Given the description of an element on the screen output the (x, y) to click on. 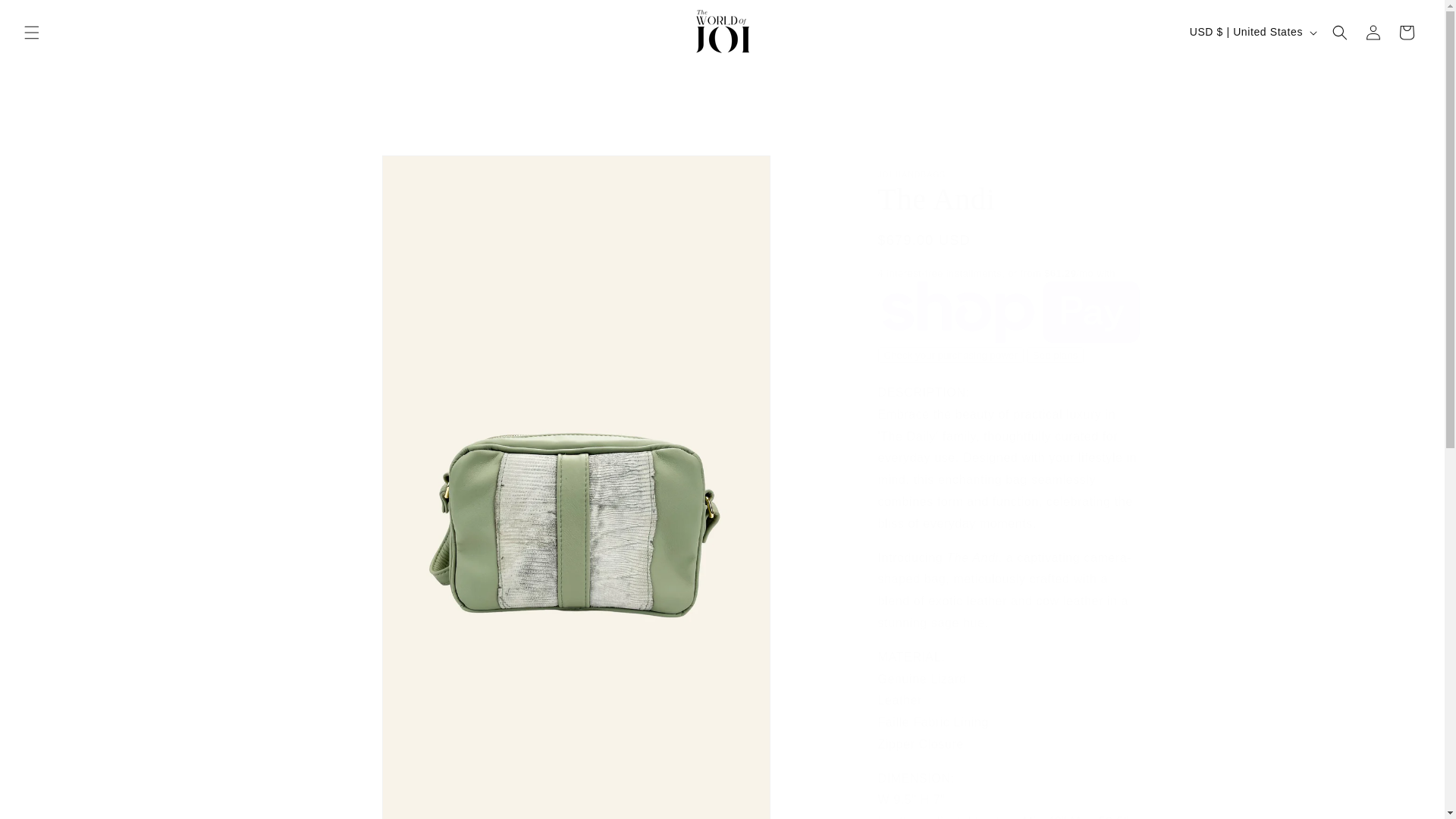
Skip to content (45, 17)
Log in (1373, 31)
Cart (1406, 31)
Skip to product information (350, 172)
